Given the description of an element on the screen output the (x, y) to click on. 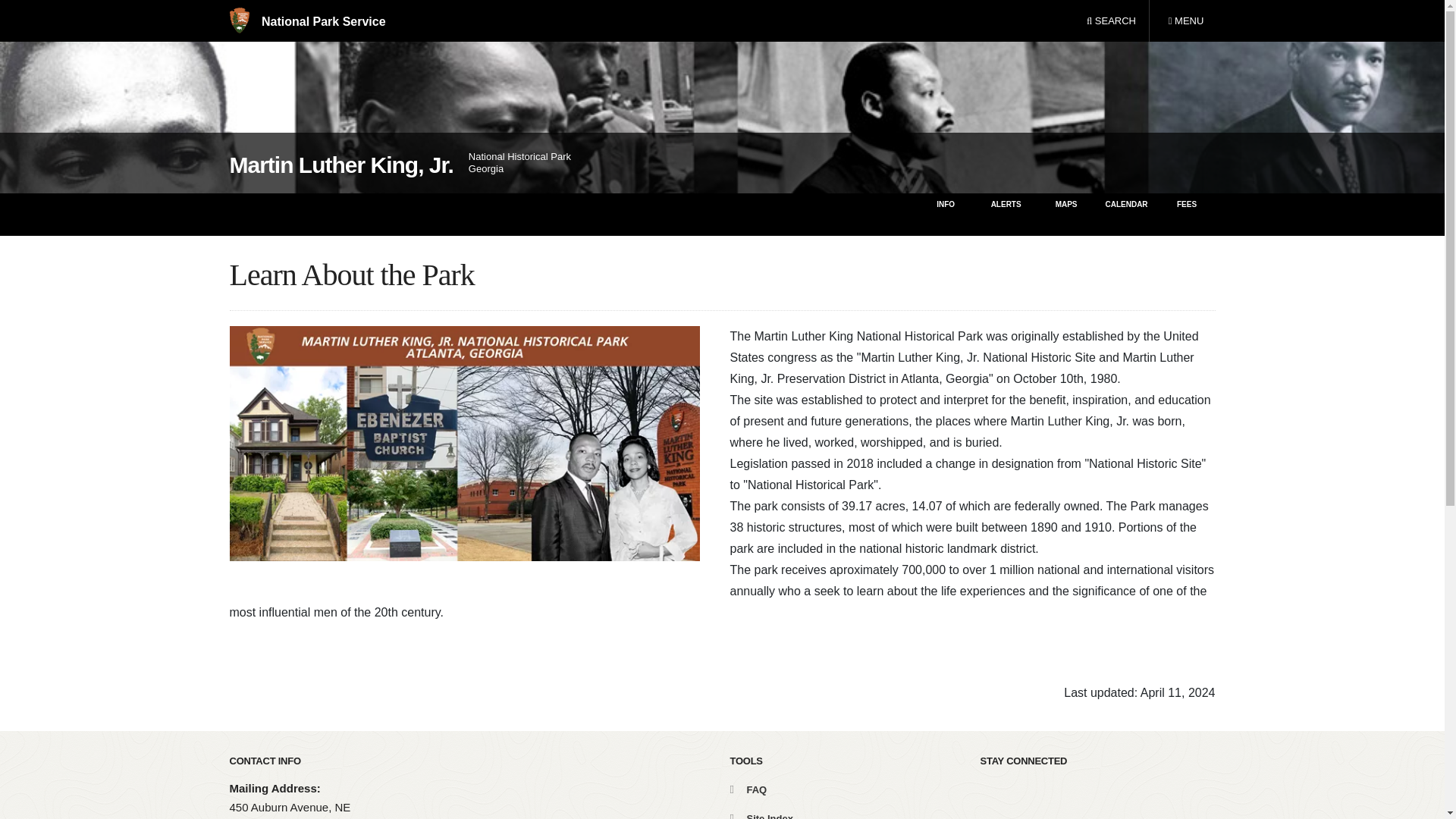
ALERTS (1004, 214)
SEARCH (1111, 20)
Martin Luther King, Jr. (340, 164)
Site Index (760, 816)
National Park Service (307, 20)
FAQ (1185, 20)
MAPS (748, 789)
INFO (1066, 214)
About the Park (945, 214)
